Given the description of an element on the screen output the (x, y) to click on. 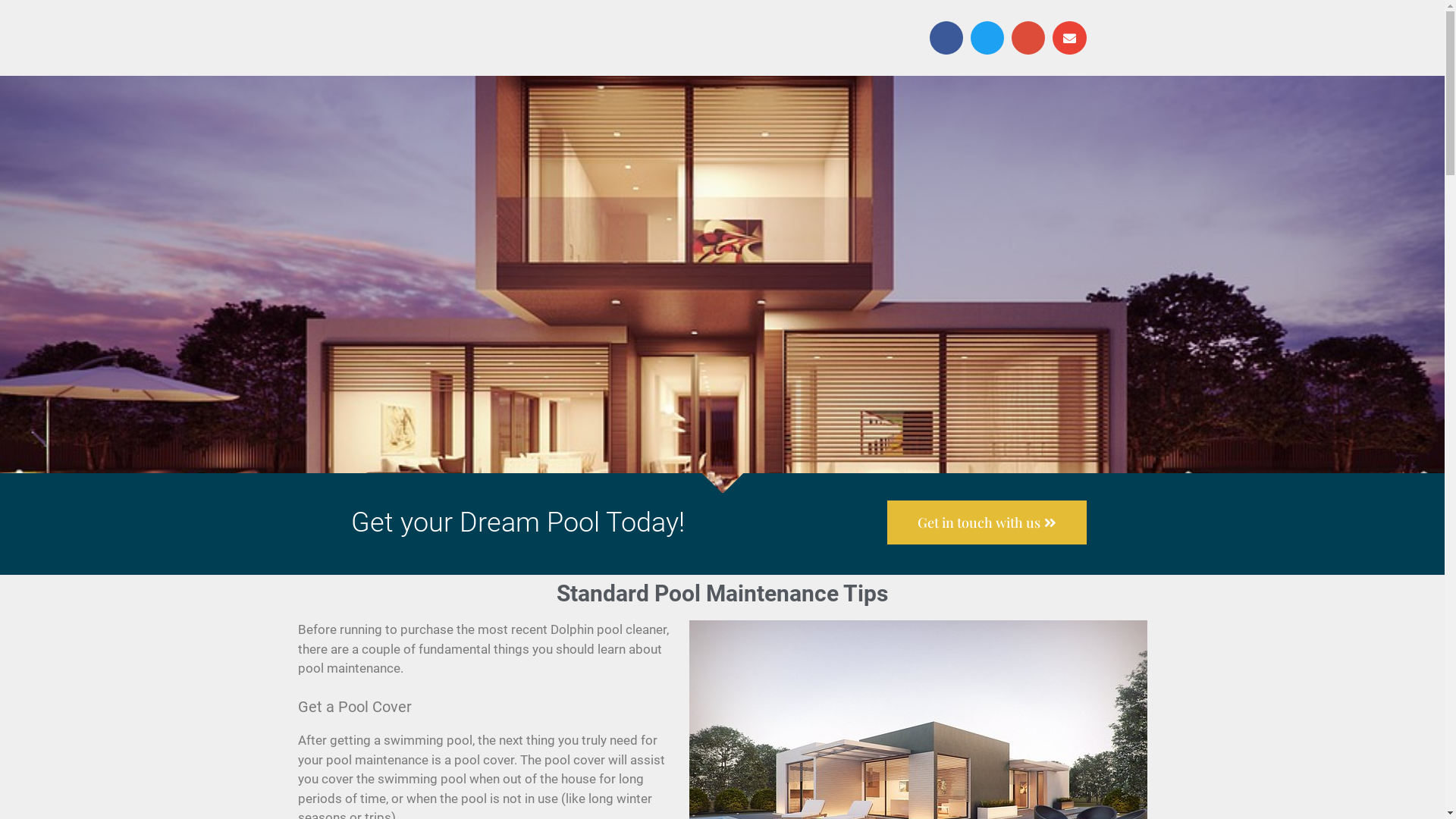
Get in touch with us Element type: text (986, 522)
